Given the description of an element on the screen output the (x, y) to click on. 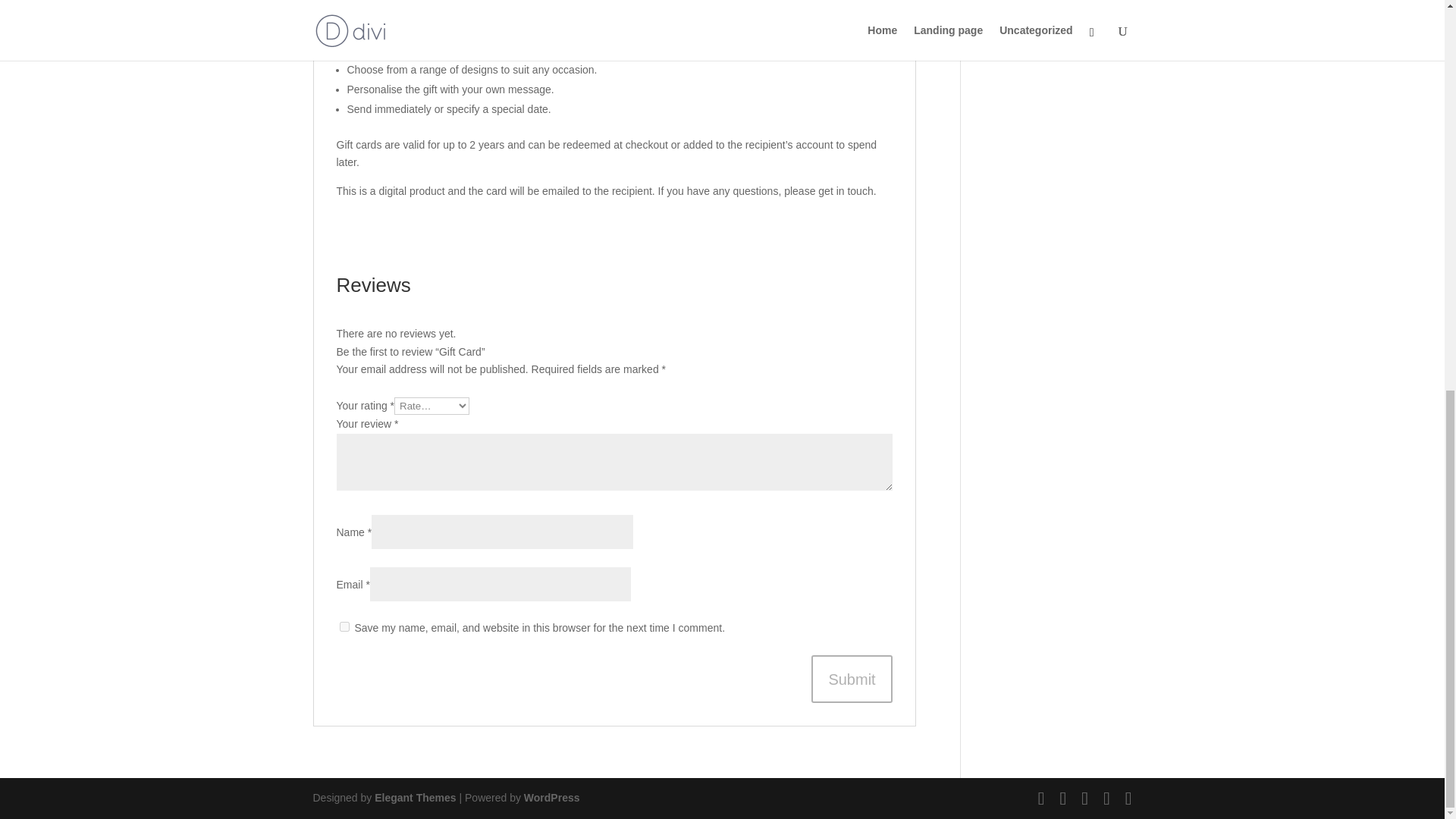
Submit (850, 678)
Elegant Themes (414, 797)
Premium WordPress Themes (414, 797)
WordPress (551, 797)
yes (344, 626)
Submit (850, 678)
